Given the description of an element on the screen output the (x, y) to click on. 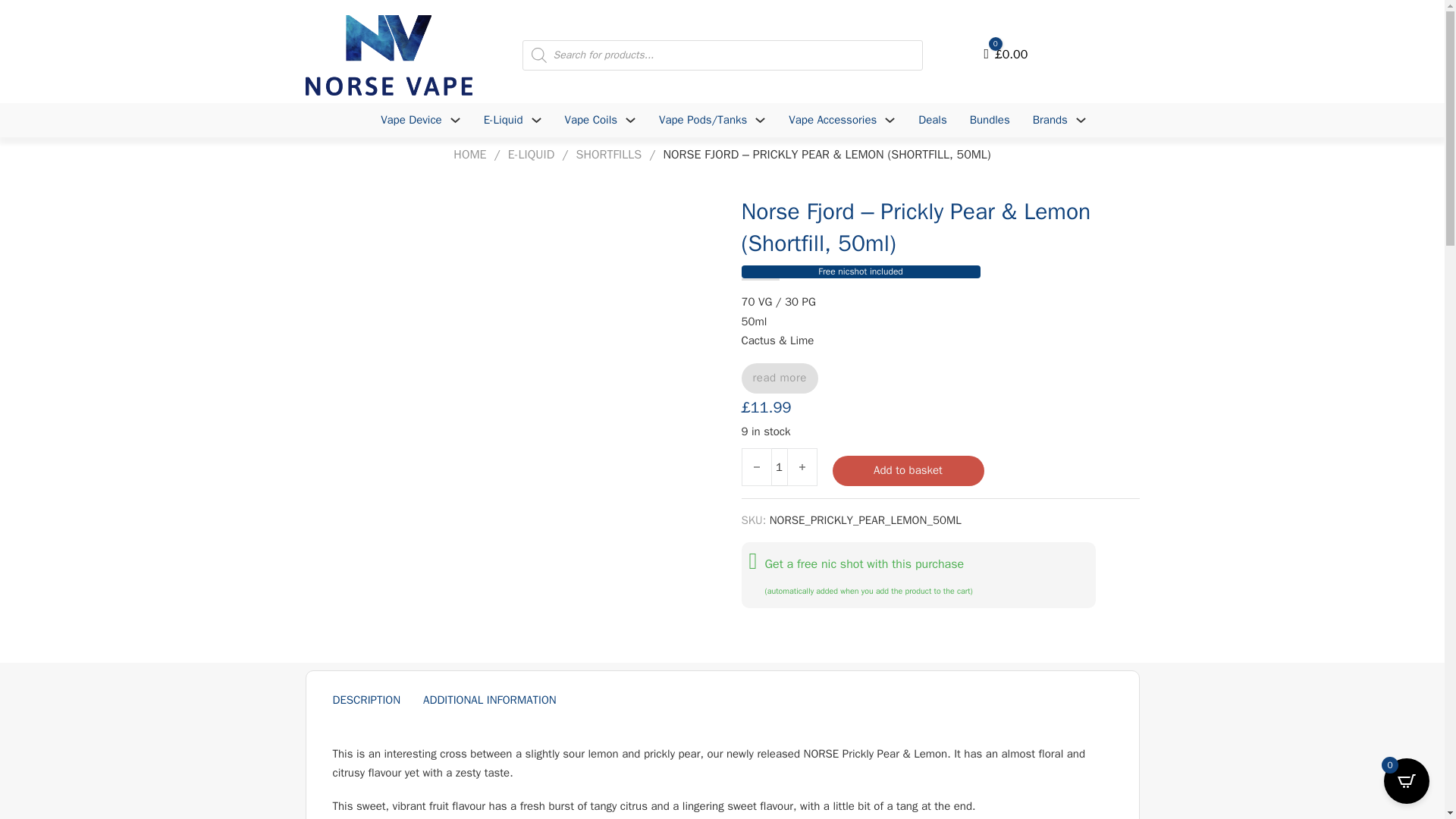
E-Liquid (502, 120)
Vape Accessories (832, 120)
Brands (1049, 120)
Vape Device (411, 120)
Bundles (989, 120)
Vape Coils (590, 120)
Deals (932, 120)
